Given the description of an element on the screen output the (x, y) to click on. 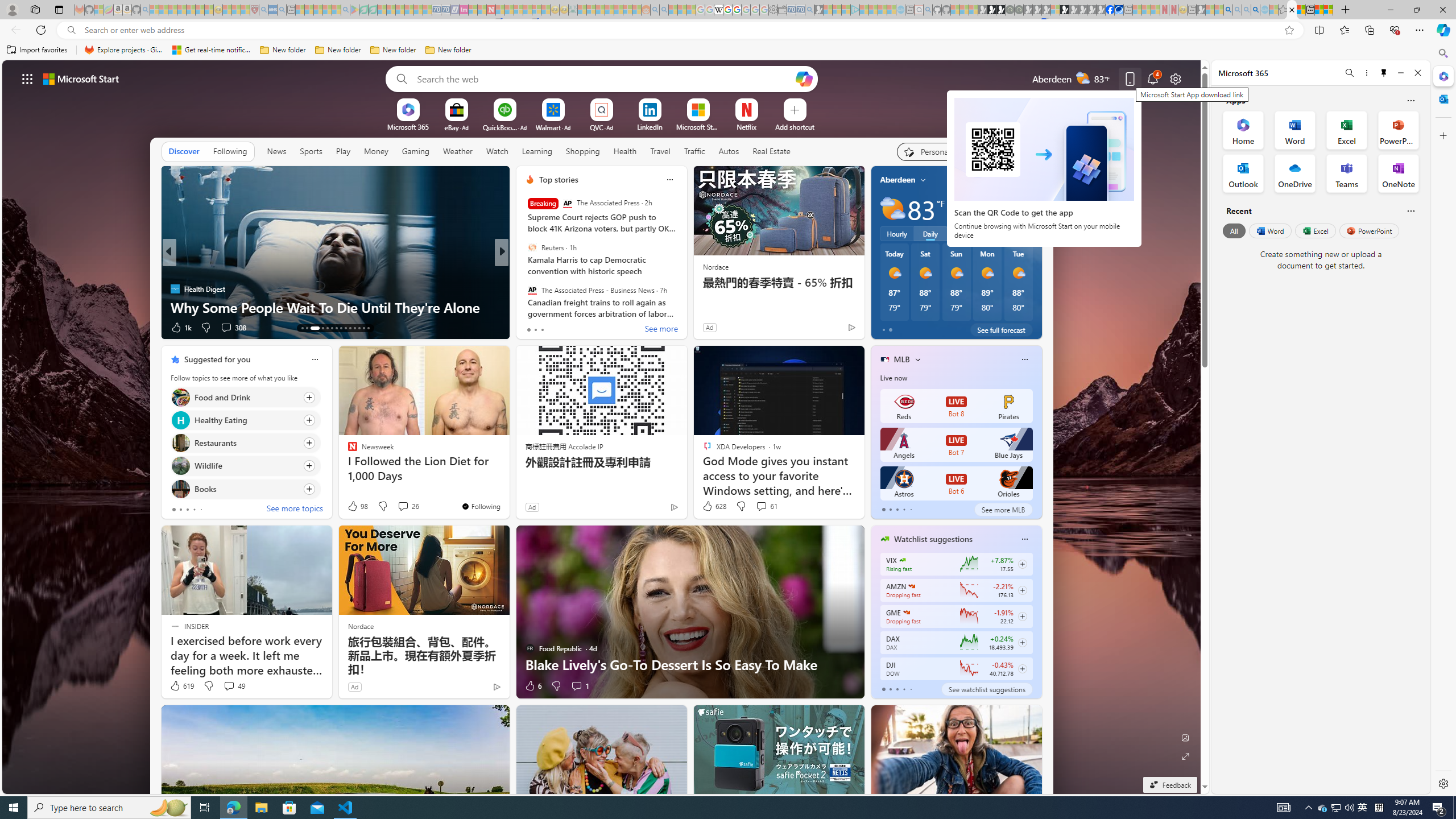
View comments 81 Comment (580, 327)
Restaurants (180, 443)
Daily (929, 233)
View comments 308 Comment (232, 327)
Astros LIVE Bot 6 Orioles (955, 483)
1k Like (180, 327)
Aberdeen, Hong Kong SAR weather forecast | Microsoft Weather (1300, 9)
